Given the description of an element on the screen output the (x, y) to click on. 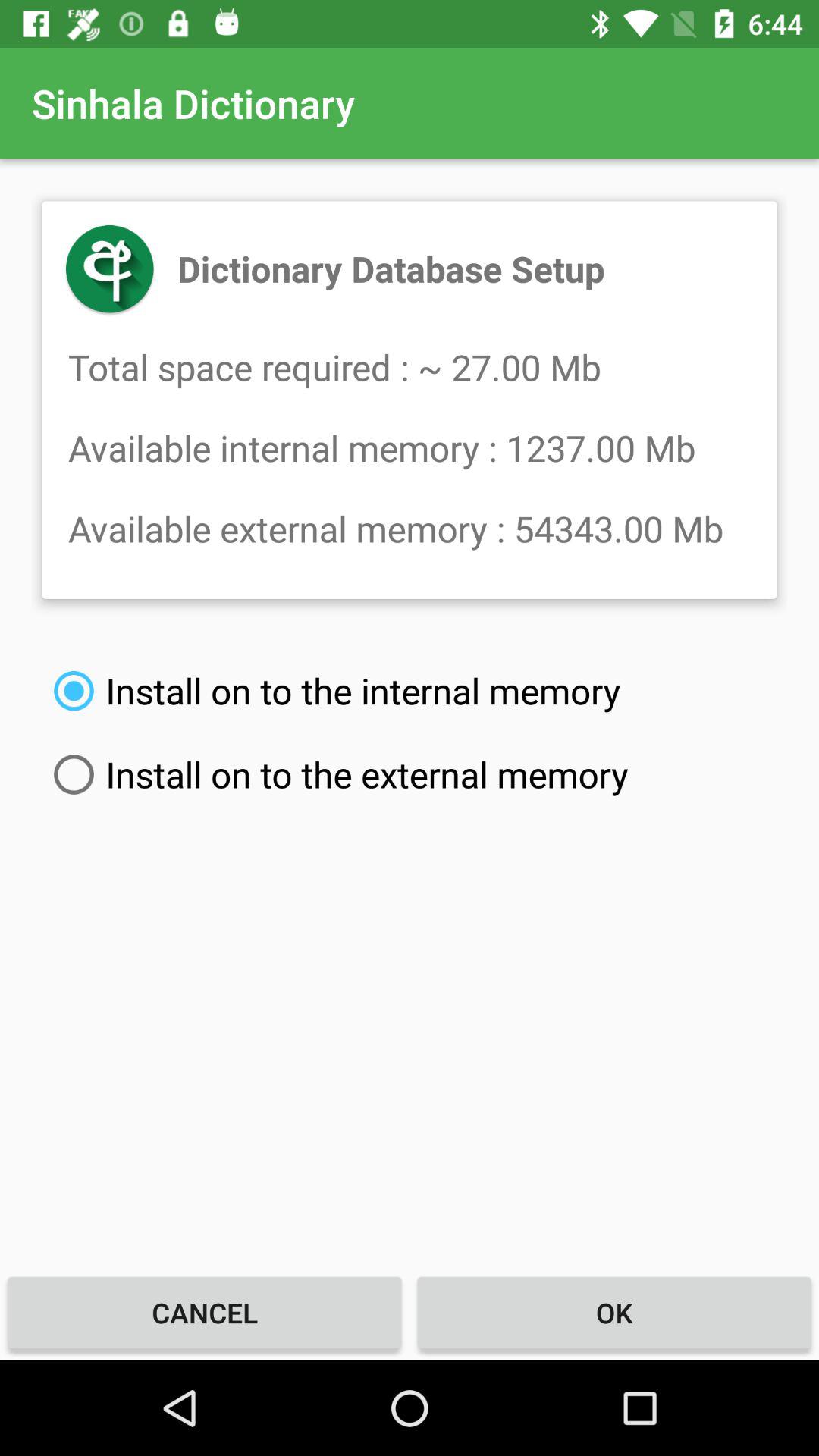
turn on the icon to the left of the ok icon (204, 1312)
